Given the description of an element on the screen output the (x, y) to click on. 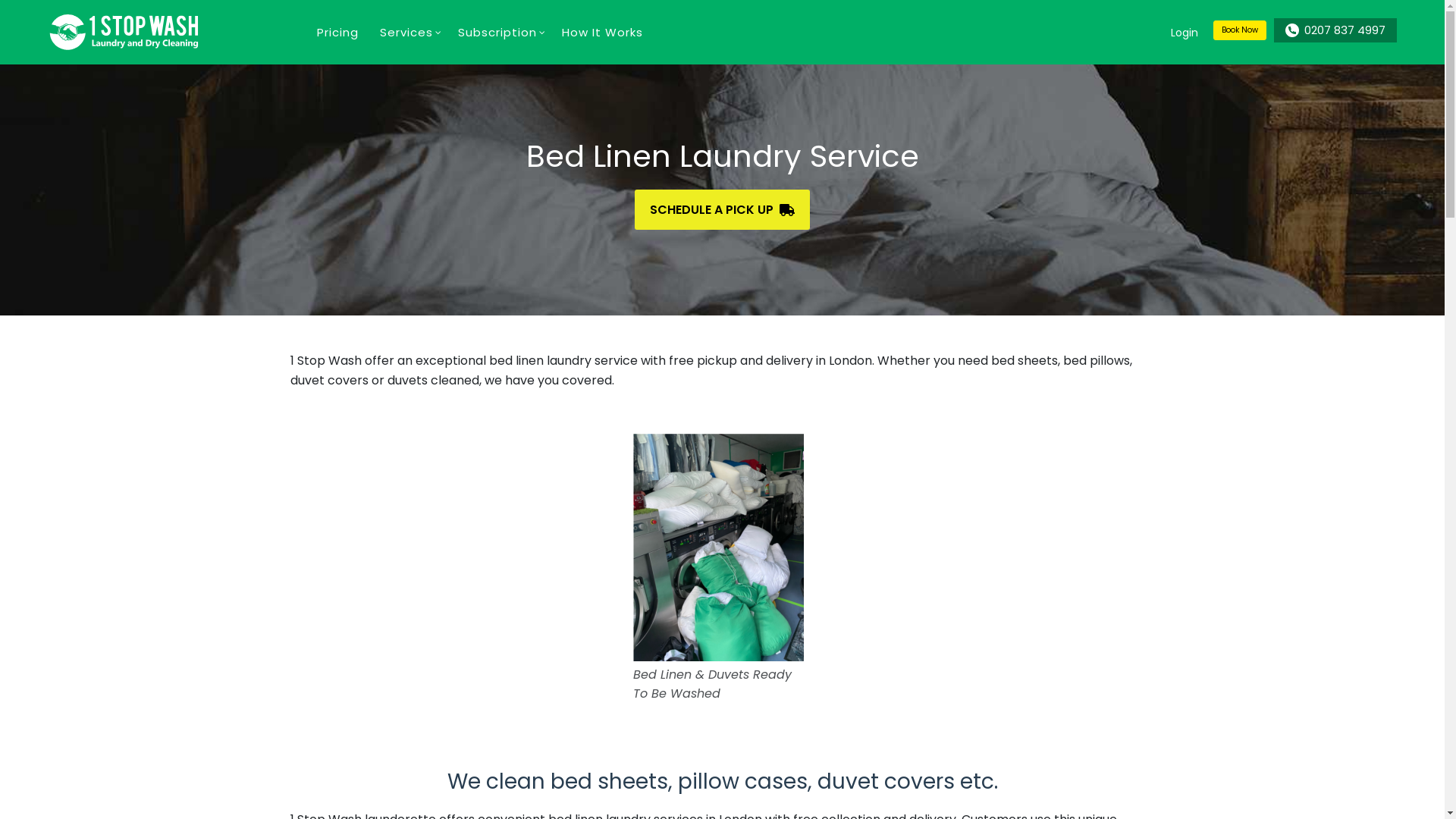
Book Now Element type: text (1239, 30)
SCHEDULE A PICK UP Element type: text (721, 209)
How It Works Element type: text (602, 32)
Subscription Element type: text (497, 32)
Services Element type: text (406, 32)
0207 837 4997 Element type: text (1331, 31)
Pricing Element type: text (337, 32)
Login Element type: text (1184, 32)
